Given the description of an element on the screen output the (x, y) to click on. 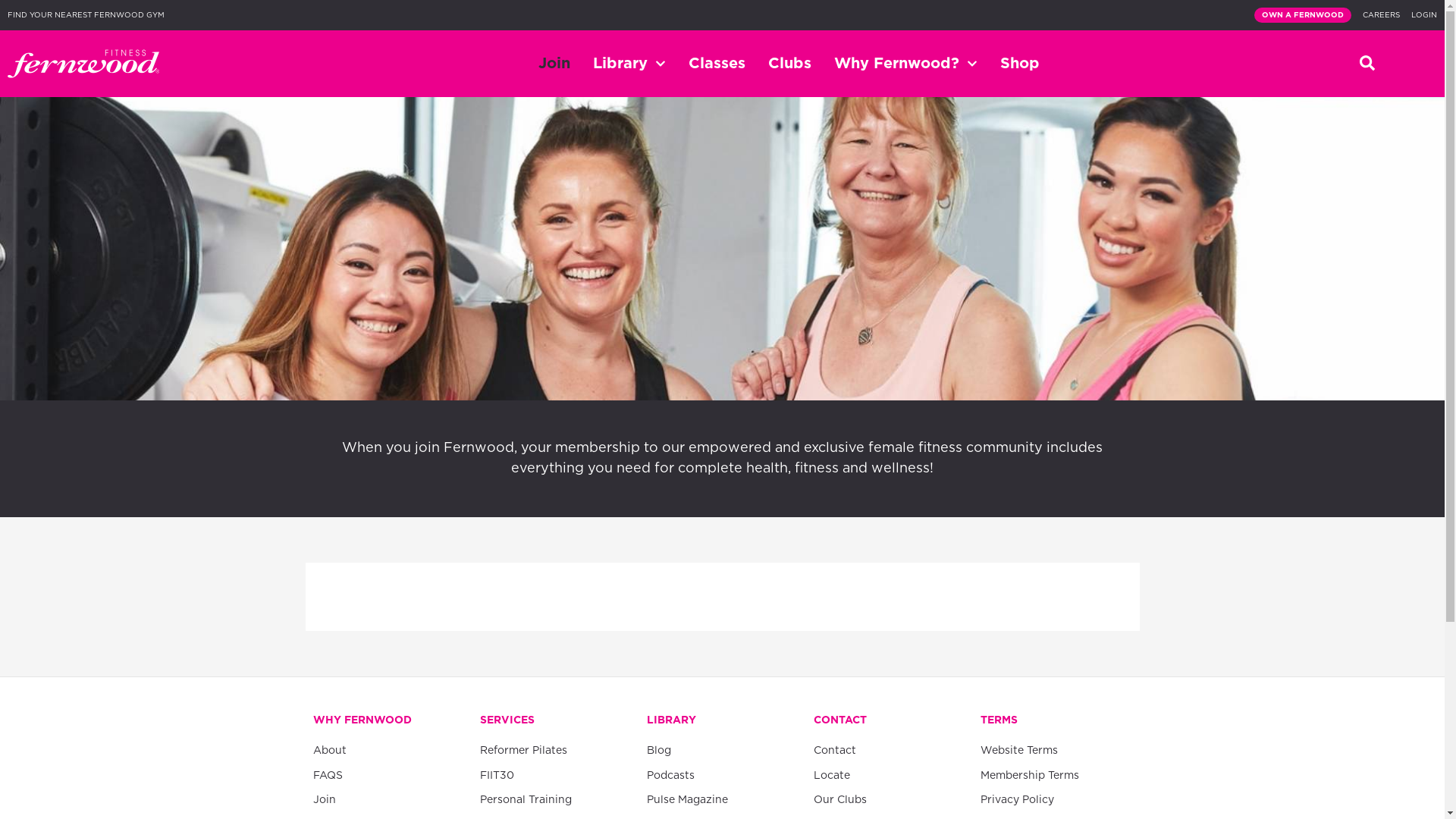
Join Element type: text (388, 800)
CAREERS Element type: text (1380, 14)
LOGIN Element type: text (1424, 14)
ff_logo_white Element type: hover (83, 63)
Podcasts Element type: text (721, 775)
Contact Element type: text (888, 750)
Library Element type: text (629, 63)
Join Element type: text (554, 63)
Locate Element type: text (888, 775)
Blog Element type: text (721, 750)
OWN A FERNWOOD Element type: text (1302, 14)
Classes Element type: text (716, 63)
Privacy Policy Element type: text (1055, 800)
FIIT30 Element type: text (554, 775)
About Element type: text (388, 750)
Membership Terms Element type: text (1055, 775)
Reformer Pilates Element type: text (554, 750)
FIND YOUR NEAREST FERNWOOD GYM Element type: text (85, 14)
Shop Element type: text (1019, 63)
Personal Training Element type: text (554, 800)
Clubs Element type: text (789, 63)
Pulse Magazine Element type: text (721, 800)
Why Fernwood? Element type: text (905, 63)
Our Clubs Element type: text (888, 800)
FAQS Element type: text (388, 775)
Website Terms Element type: text (1055, 750)
